Given the description of an element on the screen output the (x, y) to click on. 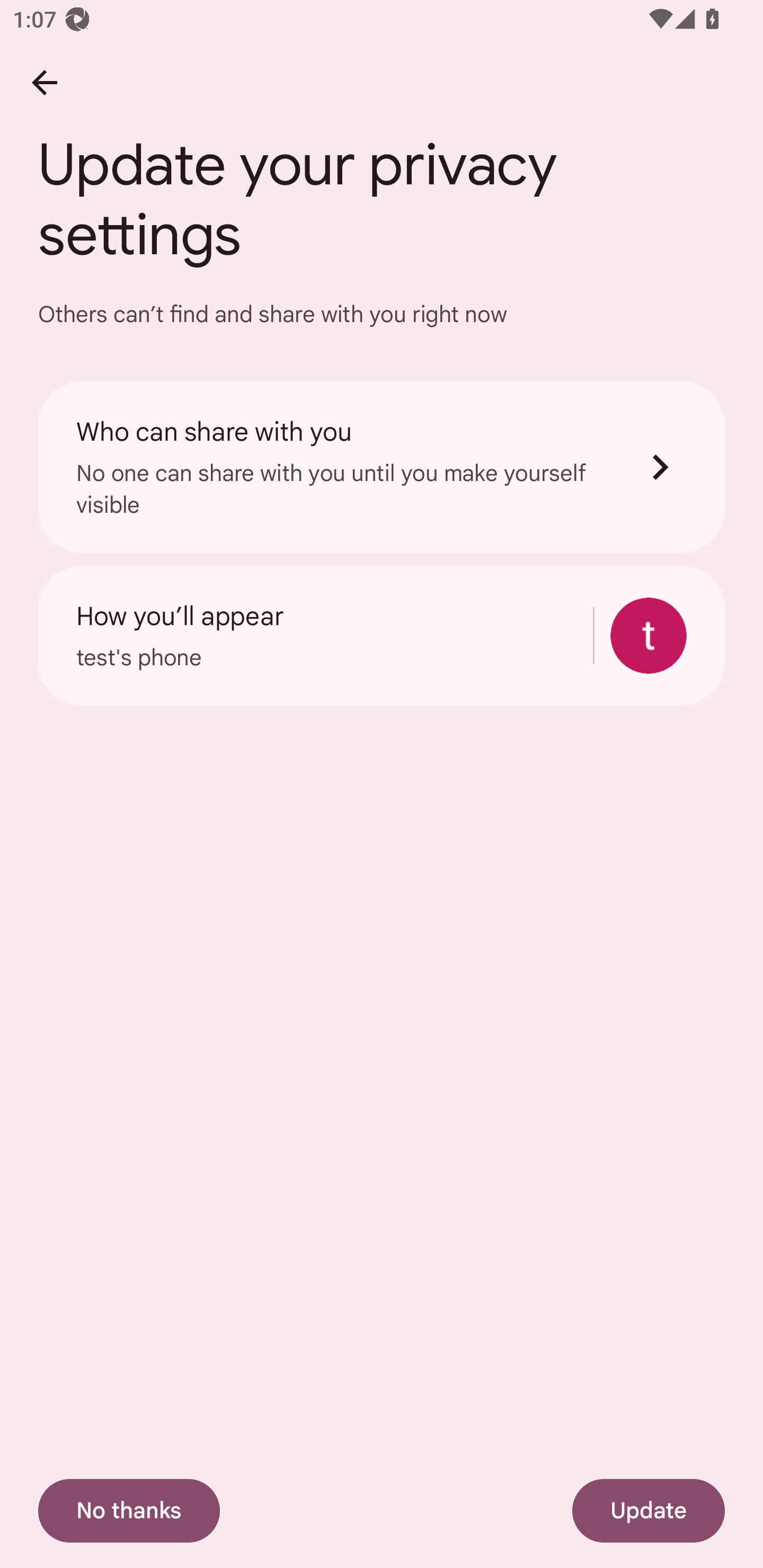
Back (44, 81)
Signed in as testappium002@gmail.com (648, 635)
No thanks (128, 1510)
Update (648, 1510)
